Given the description of an element on the screen output the (x, y) to click on. 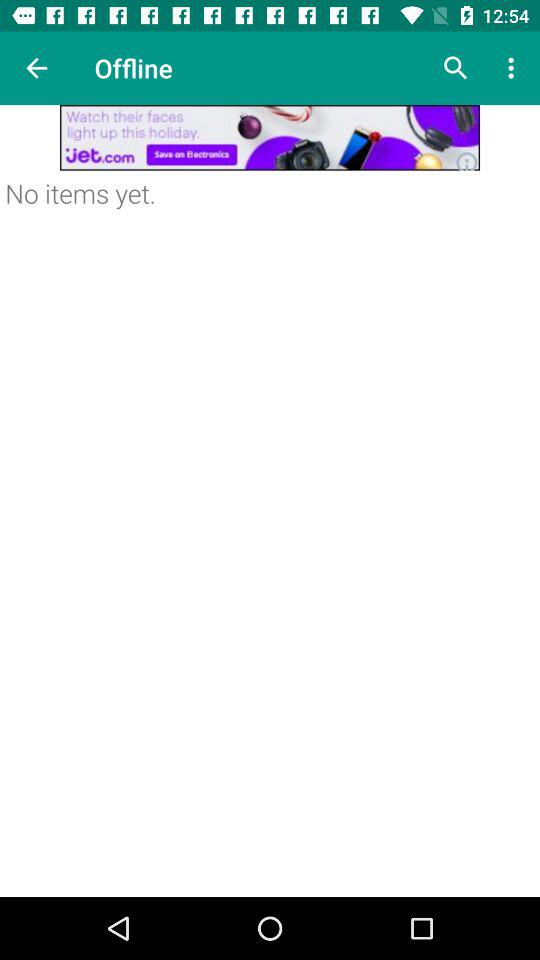
search app (455, 67)
